Given the description of an element on the screen output the (x, y) to click on. 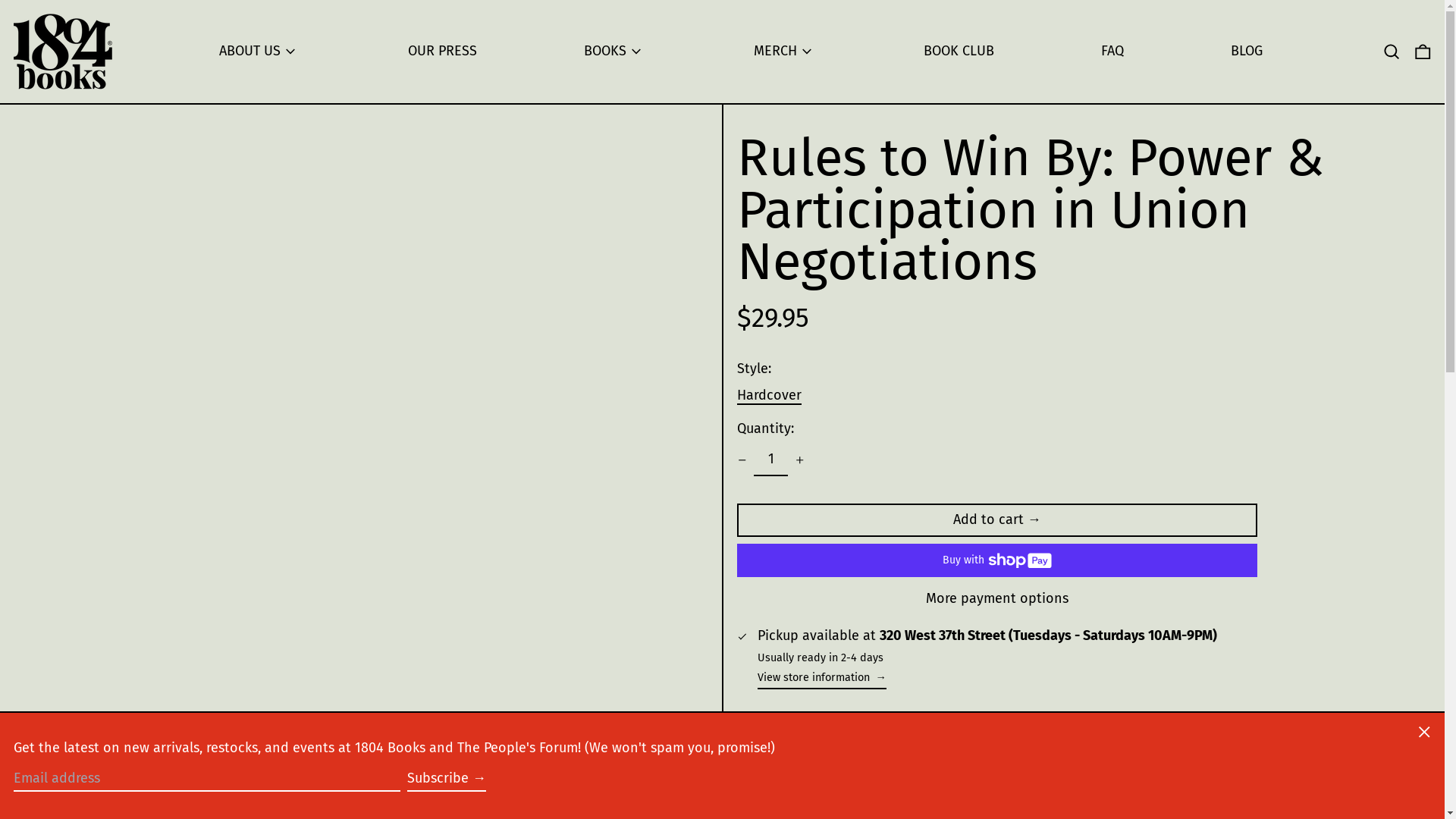
BOOKS Element type: text (614, 51)
SEARCH Element type: text (1391, 51)
BOOK CLUB Element type: text (958, 51)
OUR PRESS Element type: text (441, 51)
BLOG Element type: text (1246, 51)
Close Element type: text (1423, 733)
MERCH Element type: text (785, 51)
More payment options Element type: text (997, 598)
0 ITEMS Element type: text (1421, 51)
ABOUT US Element type: text (260, 51)
FAQ Element type: text (1112, 51)
